Given the description of an element on the screen output the (x, y) to click on. 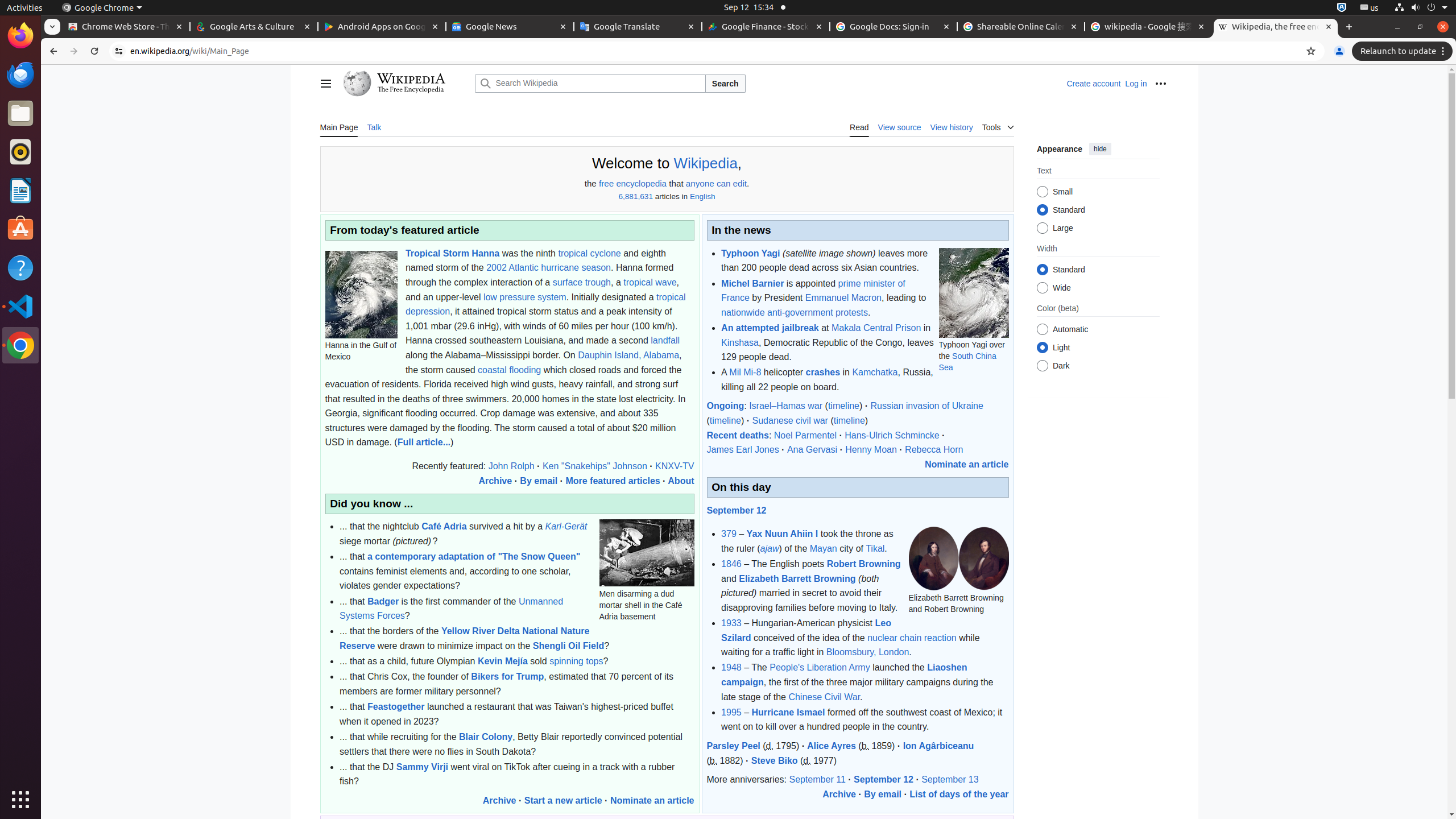
Wide Element type: radio-button (1042, 288)
Firefox Web Browser Element type: push-button (20, 35)
About Element type: link (680, 480)
Search Element type: push-button (724, 83)
Main Page Element type: link (338, 126)
